Given the description of an element on the screen output the (x, y) to click on. 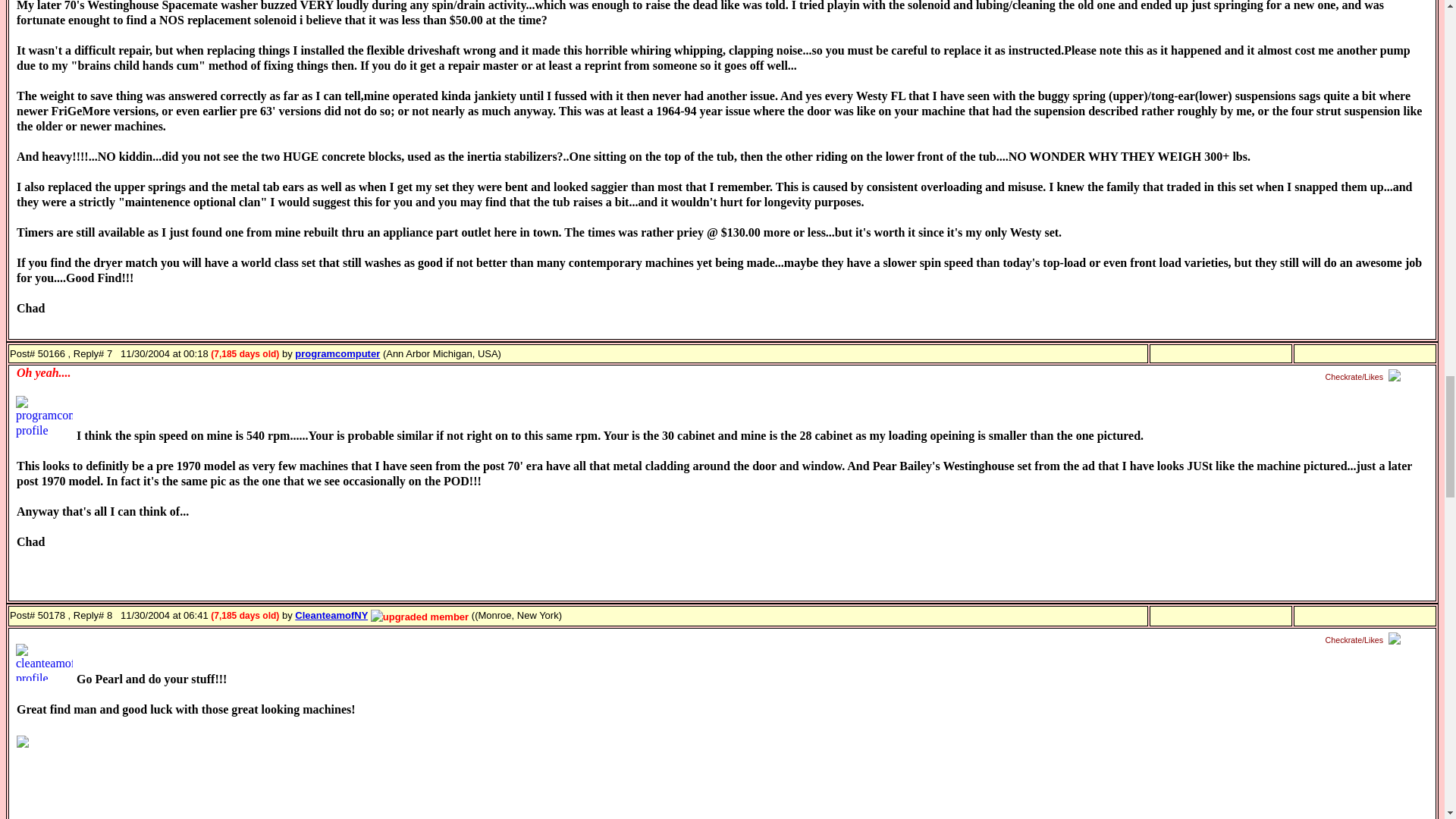
upgraded member (419, 616)
You must be logged in to checkrate posts (1364, 640)
You must be logged in to checkrate posts (1364, 377)
